Given the description of an element on the screen output the (x, y) to click on. 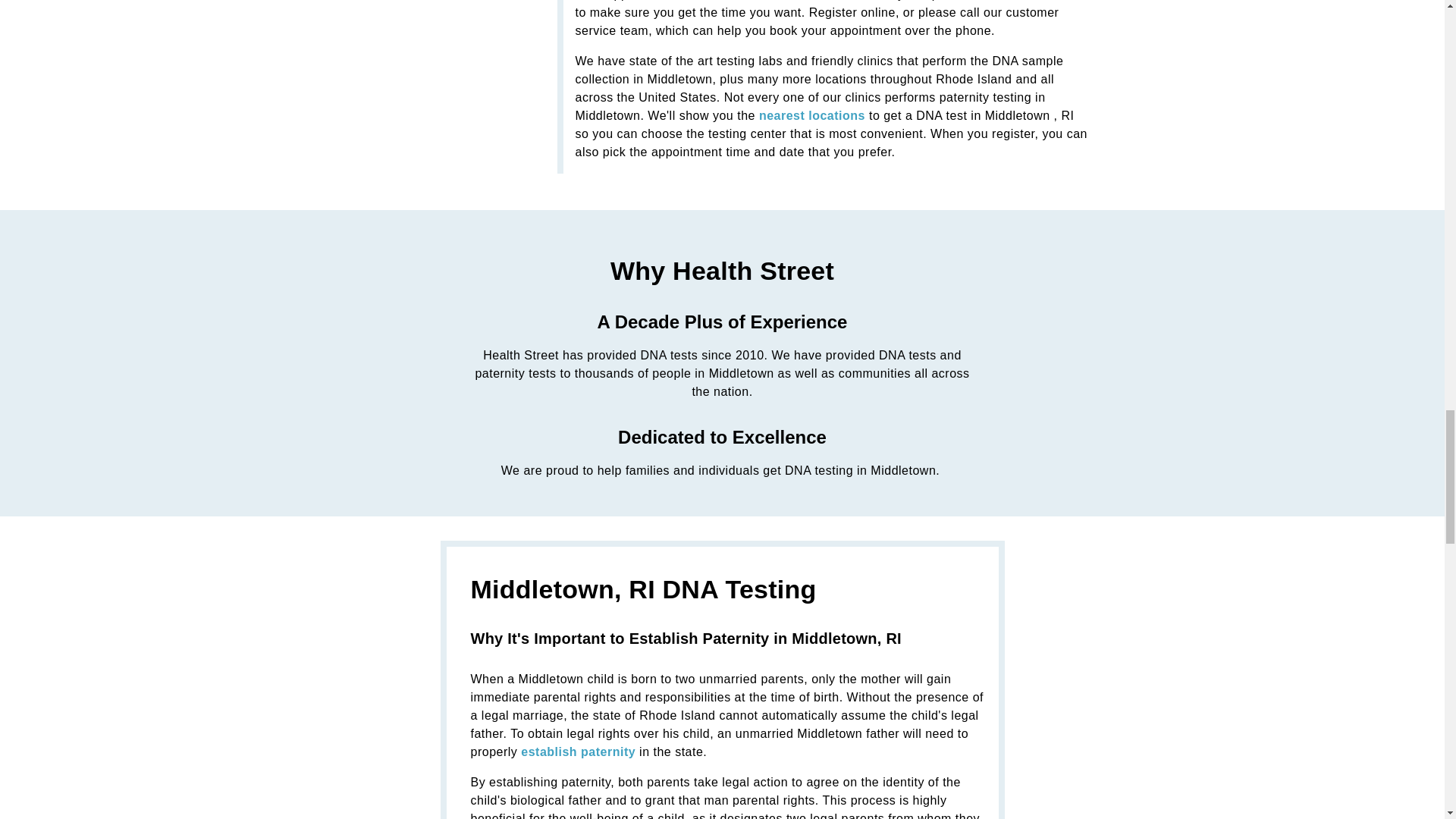
nearest locations (811, 115)
establish paternity (577, 751)
